Given the description of an element on the screen output the (x, y) to click on. 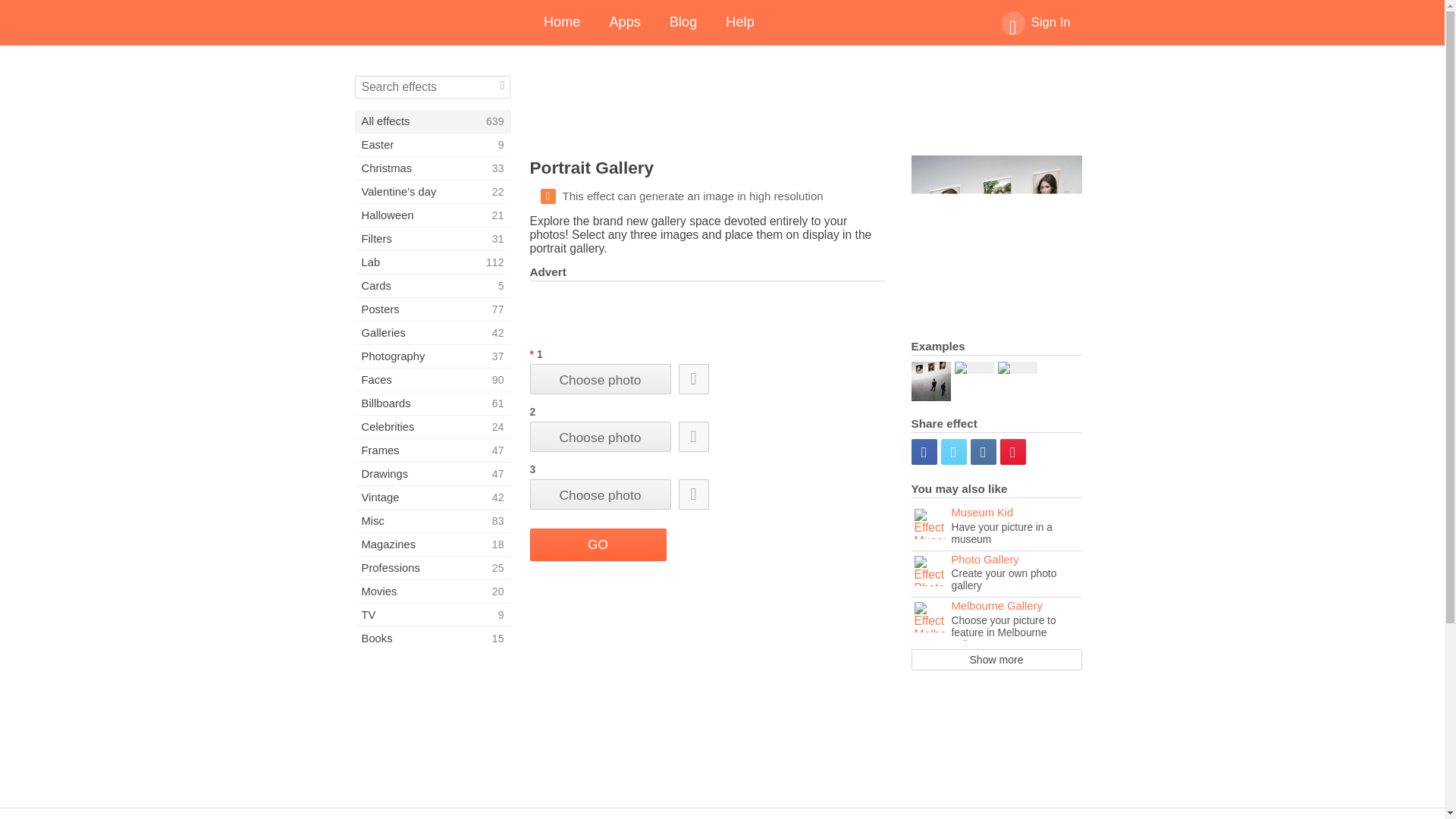
Help (996, 574)
Sign In (739, 22)
Blog (1035, 22)
